Given the description of an element on the screen output the (x, y) to click on. 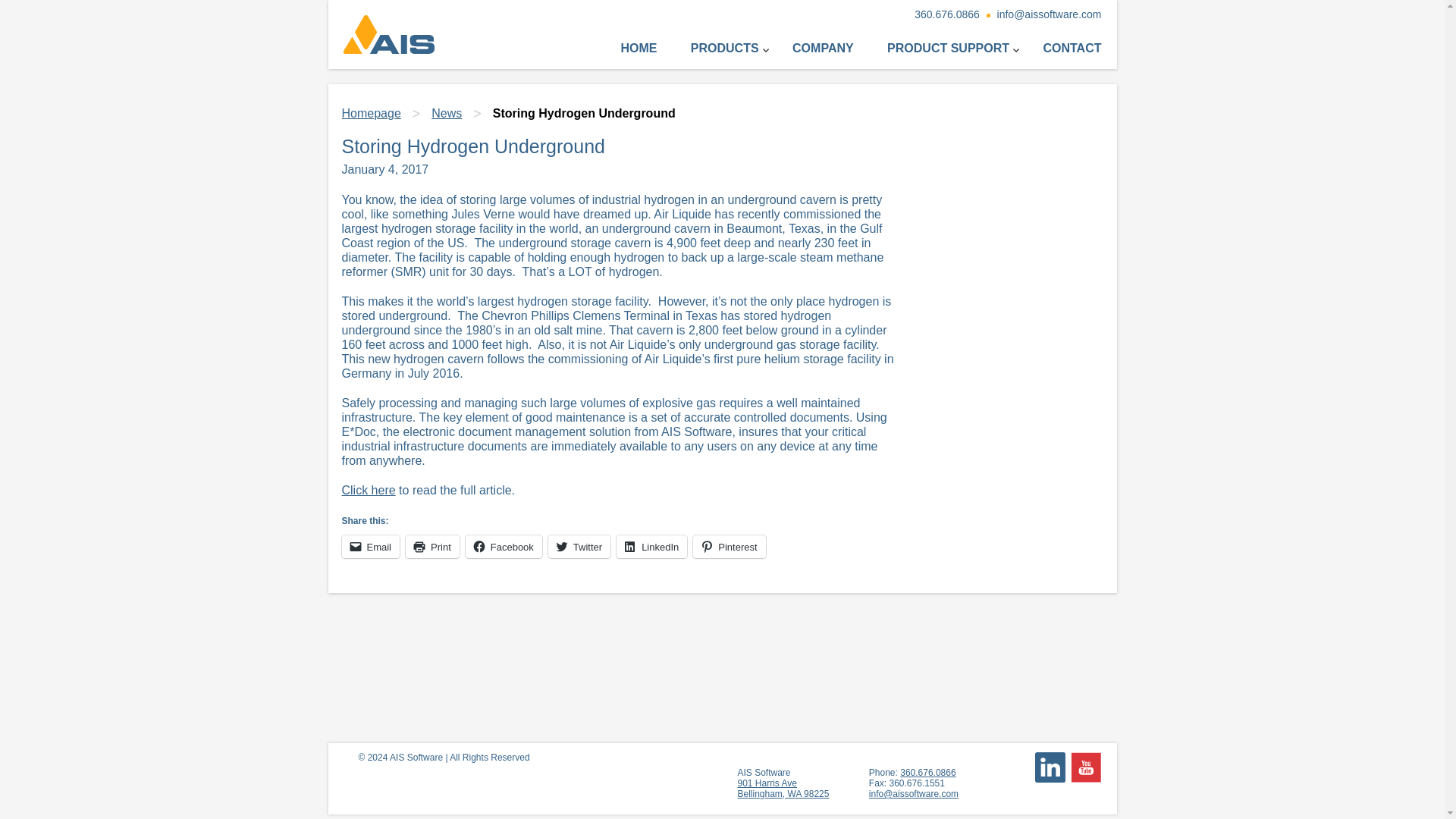
LinkedIn (651, 546)
Click to share on LinkedIn (651, 546)
News (445, 113)
YouTube (782, 788)
Click to share on Twitter (1085, 767)
Pinterest (579, 546)
Click here (729, 546)
COMPANY (367, 490)
Homepage (822, 48)
